Given the description of an element on the screen output the (x, y) to click on. 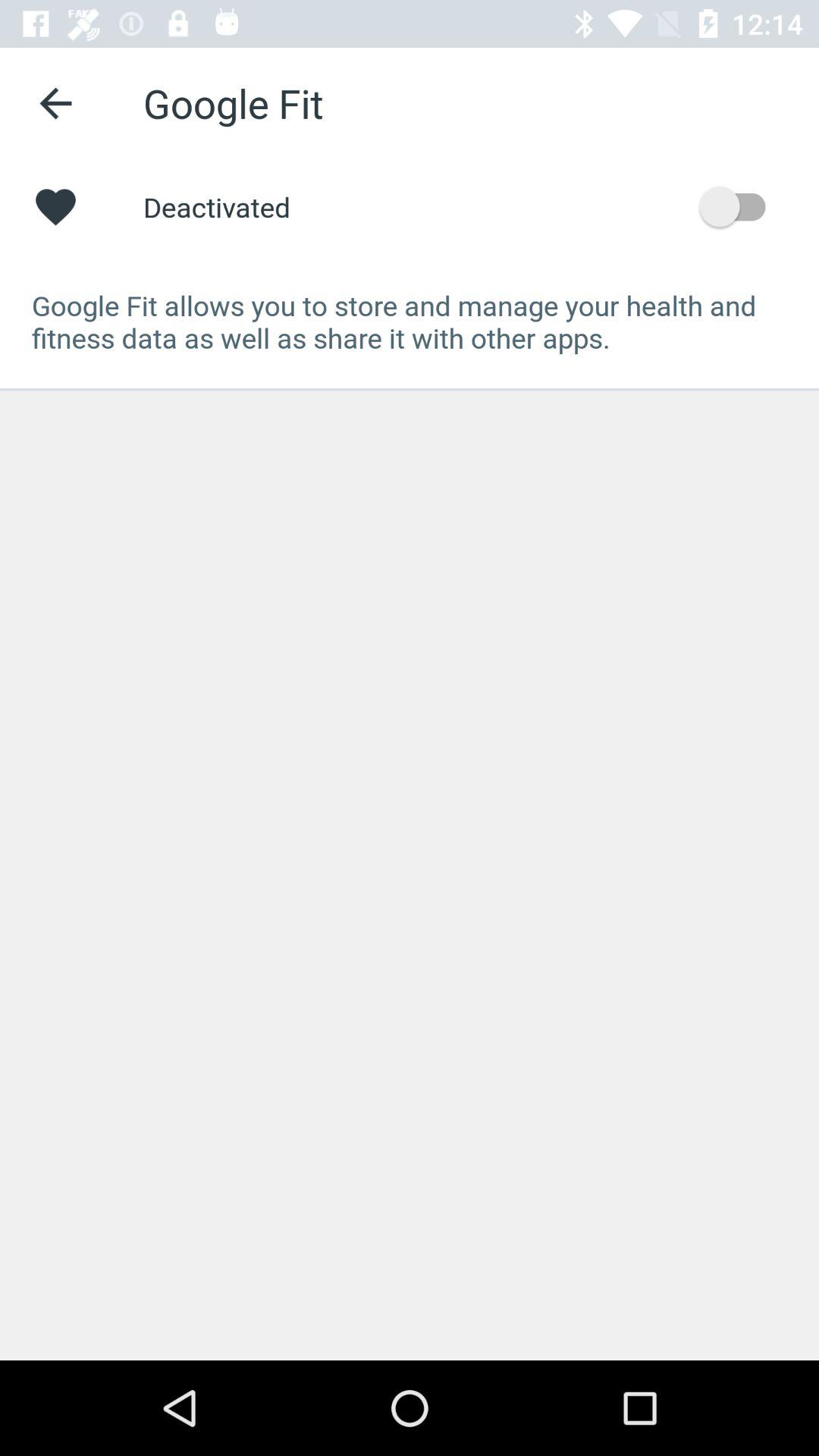
deactivate button (739, 206)
